Given the description of an element on the screen output the (x, y) to click on. 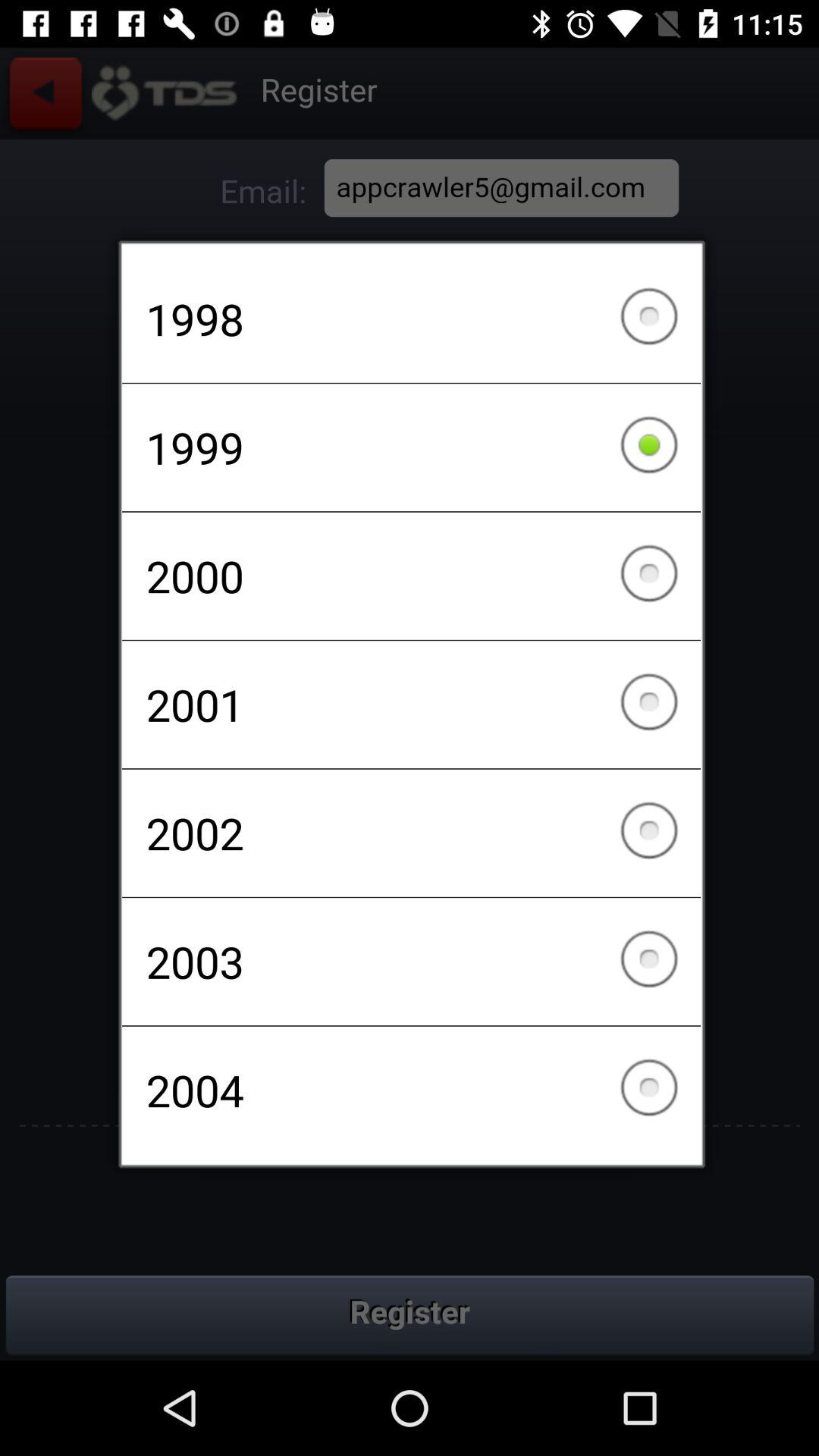
open the 2004 at the bottom (411, 1089)
